Given the description of an element on the screen output the (x, y) to click on. 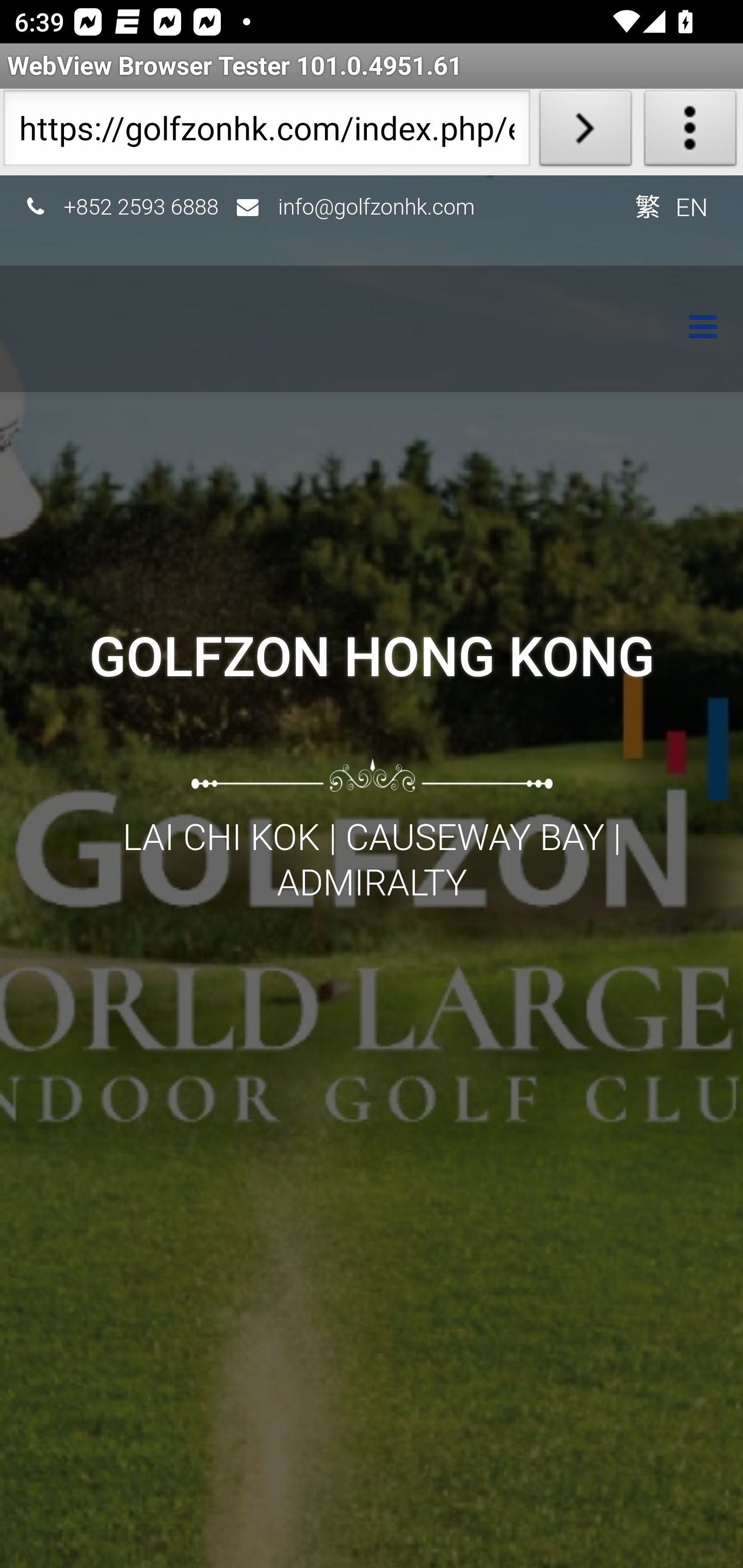
Load URL (585, 132)
About WebView (690, 132)
info@golfzonhk.com (377, 205)
繁 (647, 205)
EN (692, 205)
 (693, 328)
